Given the description of an element on the screen output the (x, y) to click on. 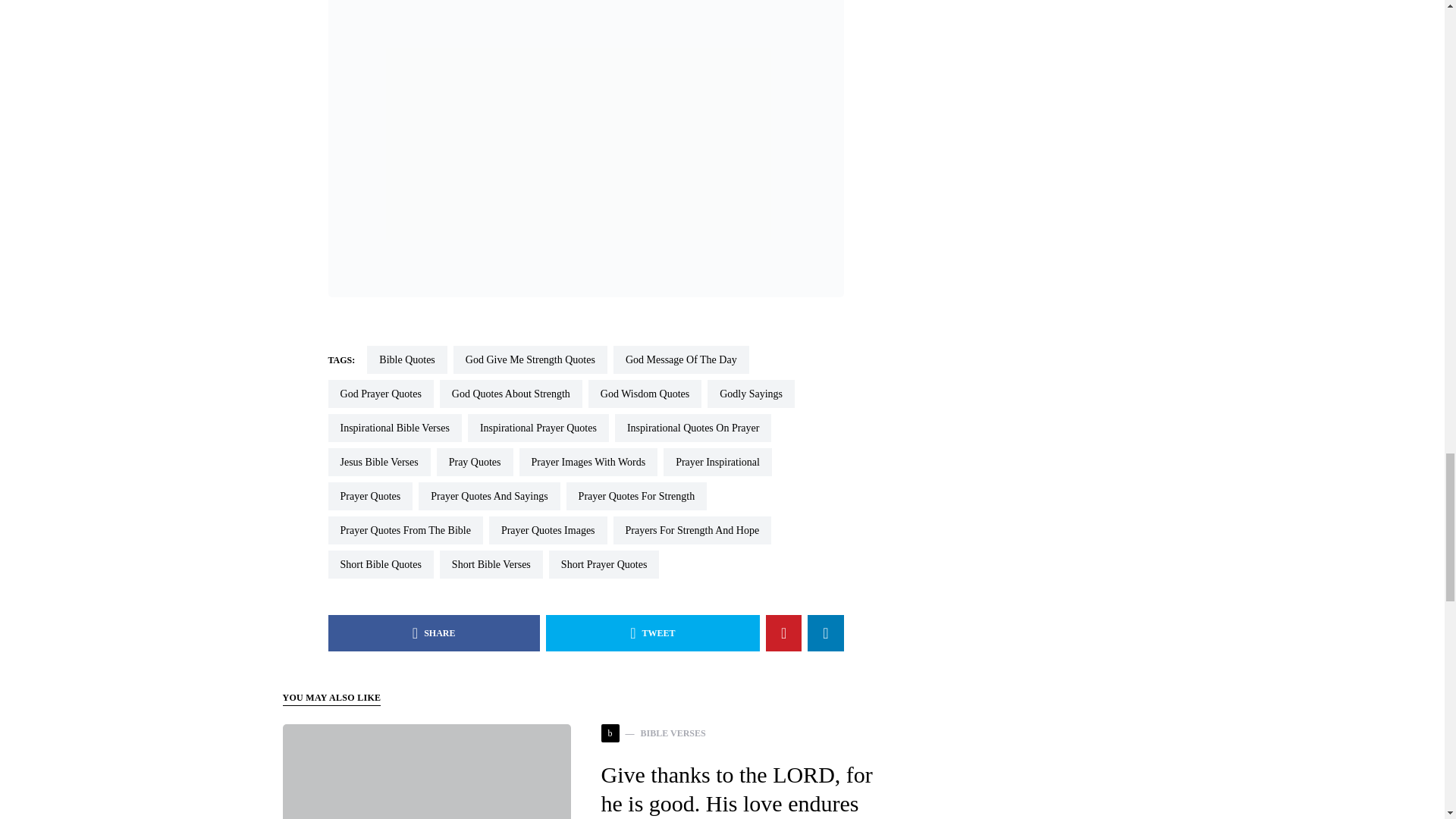
God Give Me Strength Quotes (529, 359)
Inspirational Bible Verses (394, 428)
Godly Sayings (750, 393)
God Message Of The Day (680, 359)
God Wisdom Quotes (644, 393)
Inspirational Quotes On Prayer (692, 428)
God Prayer Quotes (379, 393)
Bible Quotes (406, 359)
God Quotes About Strength (510, 393)
